Given the description of an element on the screen output the (x, y) to click on. 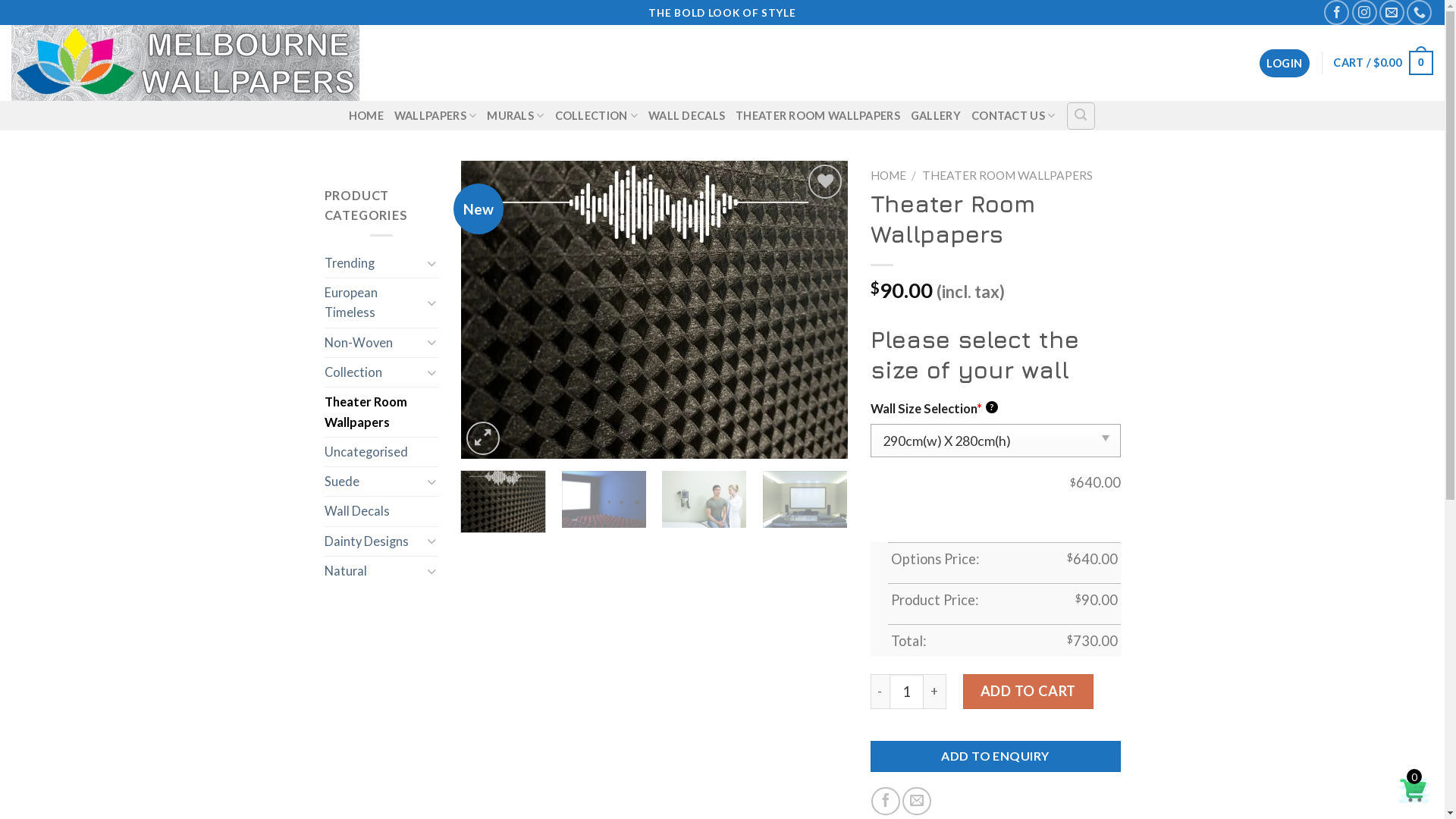
Trending Element type: text (373, 262)
Collection Element type: text (373, 371)
THEATER ROOM WALLPAPERS Element type: text (1007, 175)
Dainty Designs Element type: text (373, 541)
Send us an email Element type: hover (1391, 12)
Zoom Element type: hover (482, 438)
Call us Element type: hover (1418, 12)
Email to a Friend Element type: hover (916, 801)
COLLECTION Element type: text (596, 115)
Theater Room Wallpapers Element type: text (381, 411)
Wall Decals Element type: text (381, 510)
Follow on Facebook Element type: hover (1336, 12)
Natural Element type: text (373, 570)
Share on Facebook Element type: hover (885, 801)
Melbourne Wallpaper - The Bold Look Of Style! Element type: hover (207, 62)
Skip to content Element type: text (0, 0)
Uncategorised Element type: text (381, 451)
WALLPAPERS Element type: text (435, 115)
WALL DECALS Element type: text (686, 115)
Non-Woven Element type: text (373, 342)
ADD TO ENQUIRY Element type: text (995, 755)
Suede Element type: text (373, 481)
CONTACT US Element type: text (1012, 115)
MURALS Element type: text (514, 115)
0 Element type: text (1414, 788)
European Timeless Element type: text (373, 302)
THEATER ROOM WALLPAPERS Element type: text (817, 115)
LOGIN Element type: text (1283, 63)
HOME Element type: text (365, 115)
HOME Element type: text (888, 175)
GALLERY Element type: text (935, 115)
CART / $0.00
0 Element type: text (1383, 63)
Follow on Instagram Element type: hover (1364, 12)
ADD TO CART Element type: text (1028, 691)
